Given the description of an element on the screen output the (x, y) to click on. 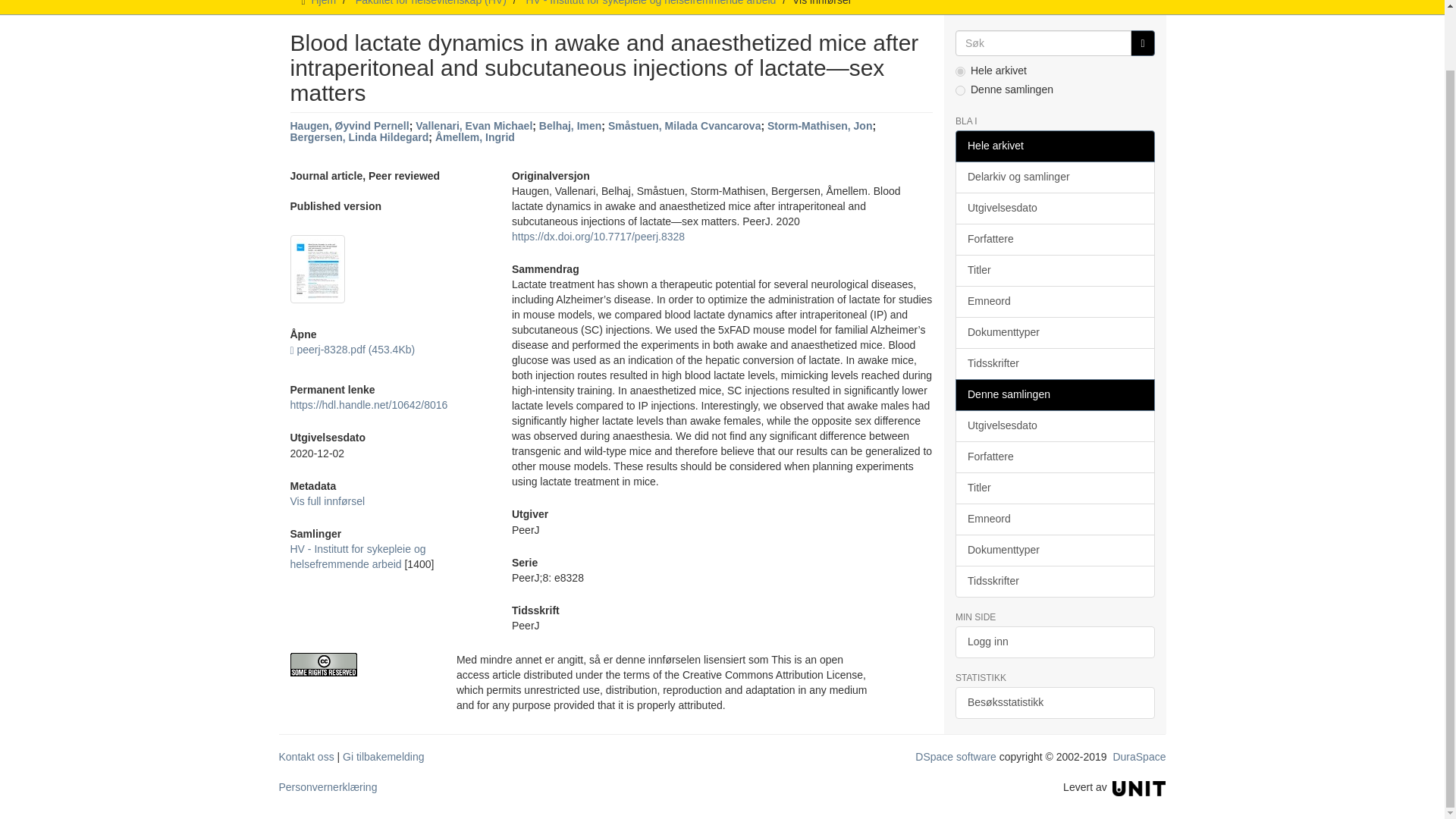
Unit (1139, 787)
Storm-Mathisen, Jon (819, 125)
Hjem (323, 2)
Vallenari, Evan Michael (473, 125)
HV - Institutt for sykepleie og helsefremmende arbeid (357, 556)
Belhaj, Imen (569, 125)
HV - Institutt for sykepleie og helsefremmende arbeid (650, 2)
Bergersen, Linda Hildegard (358, 137)
